Given the description of an element on the screen output the (x, y) to click on. 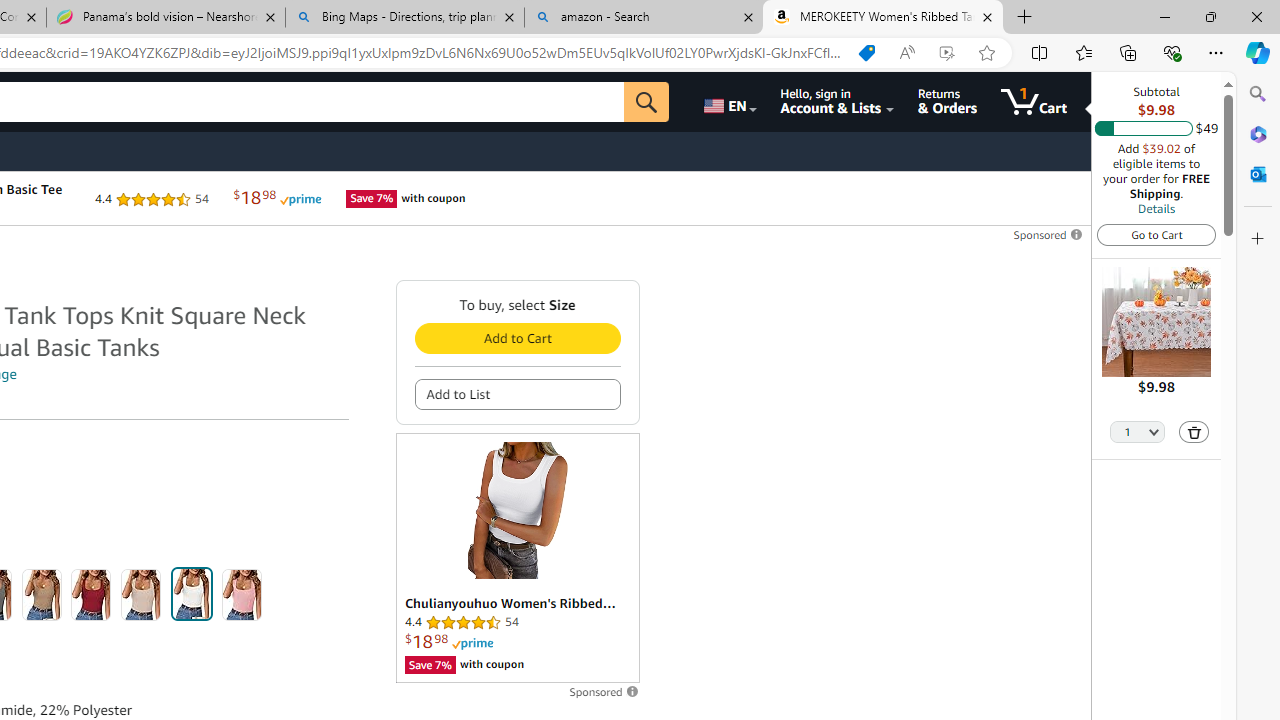
Returns & Orders (946, 101)
Hello, sign in Account & Lists (836, 101)
Add to Cart (516, 338)
Details (1156, 208)
Go to Cart (1156, 234)
Khaki (41, 594)
Pink (242, 594)
Red (91, 594)
